Given the description of an element on the screen output the (x, y) to click on. 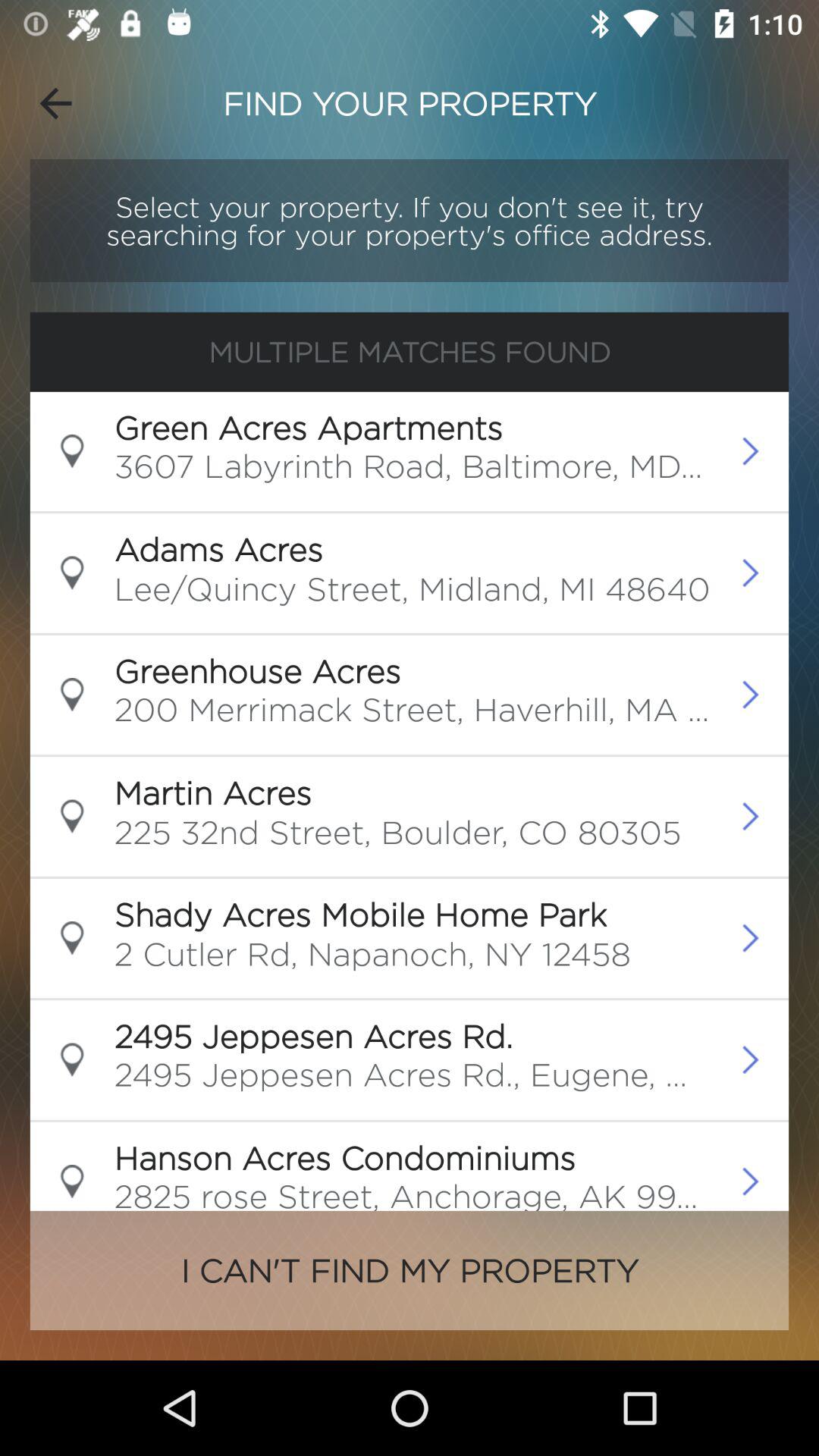
turn off the item below select your property app (409, 351)
